Given the description of an element on the screen output the (x, y) to click on. 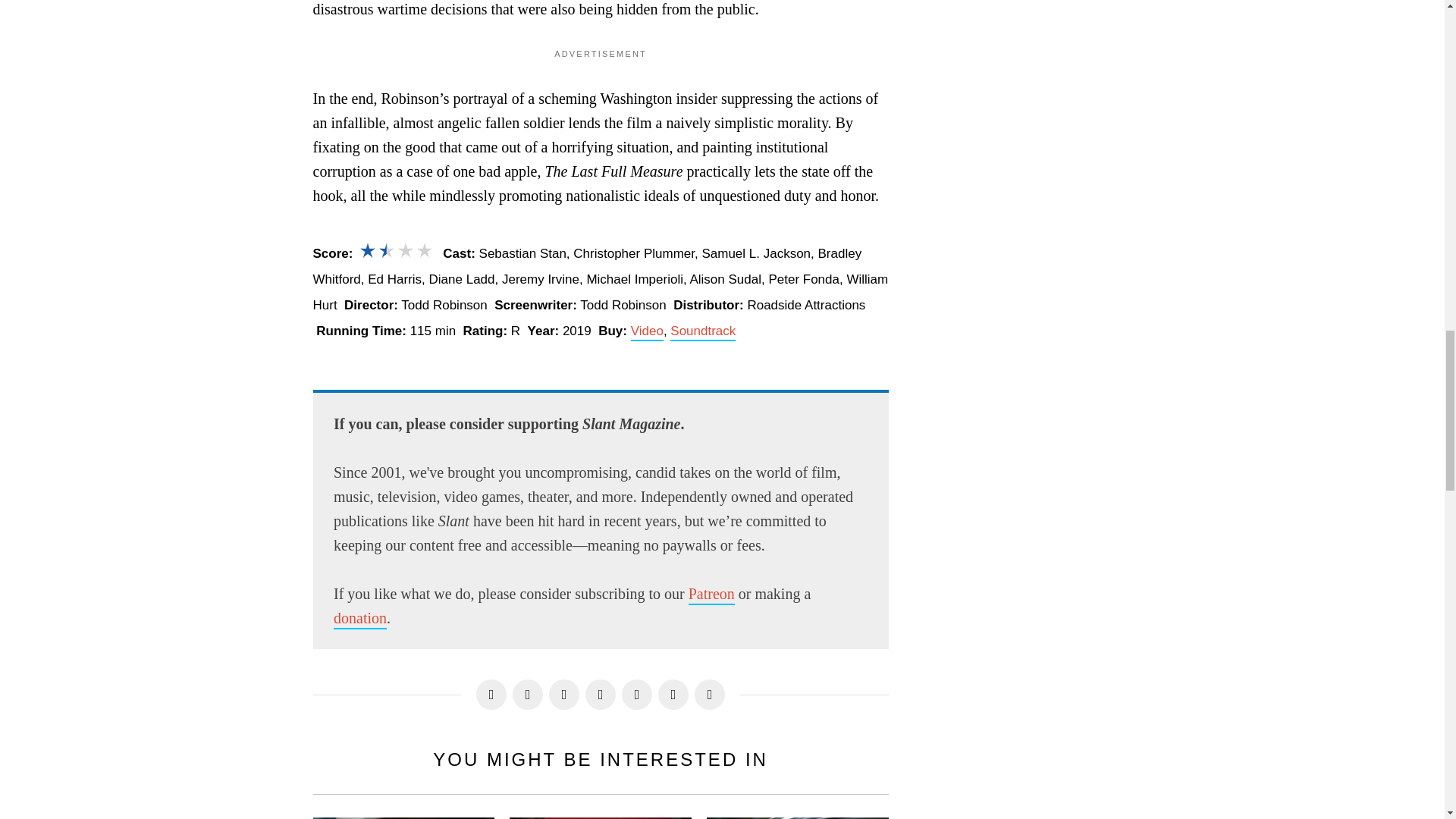
Soundtrack (702, 332)
Linkedin (600, 694)
Pinterest (563, 694)
Video (646, 332)
Twitter (527, 694)
Reddit (673, 694)
Facebook (491, 694)
Email (709, 694)
Whatsapp (636, 694)
Patreon (711, 595)
